Given the description of an element on the screen output the (x, y) to click on. 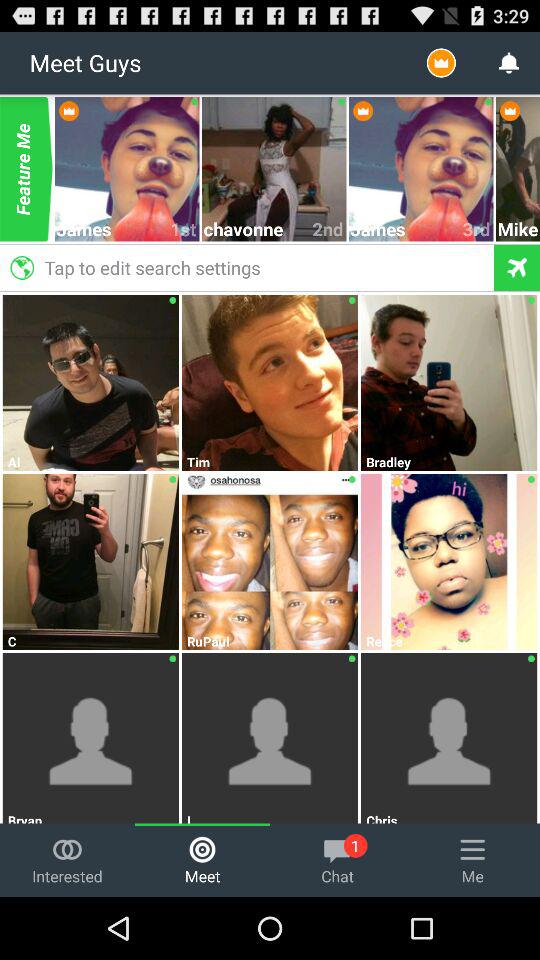
turn on the icon to the right of the james (477, 228)
